Given the description of an element on the screen output the (x, y) to click on. 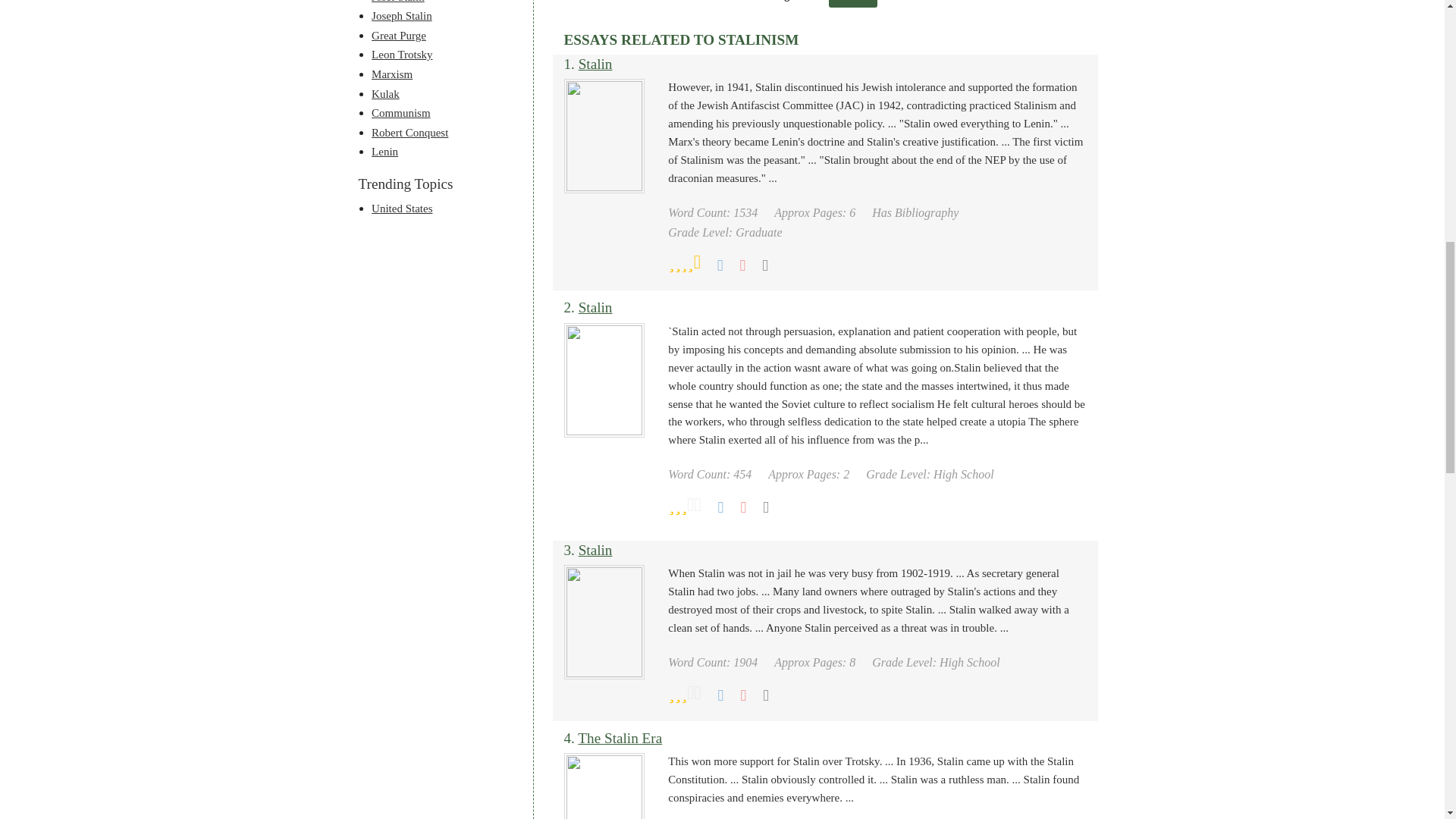
Communism (400, 112)
Joseph Stalin (401, 15)
Robert Conquest (409, 132)
Stalin (595, 64)
Kulak (384, 93)
Josef Stalin (398, 1)
Marxism (391, 73)
Great Purge (398, 35)
Leon Trotsky (401, 54)
Lenin (384, 151)
